Given the description of an element on the screen output the (x, y) to click on. 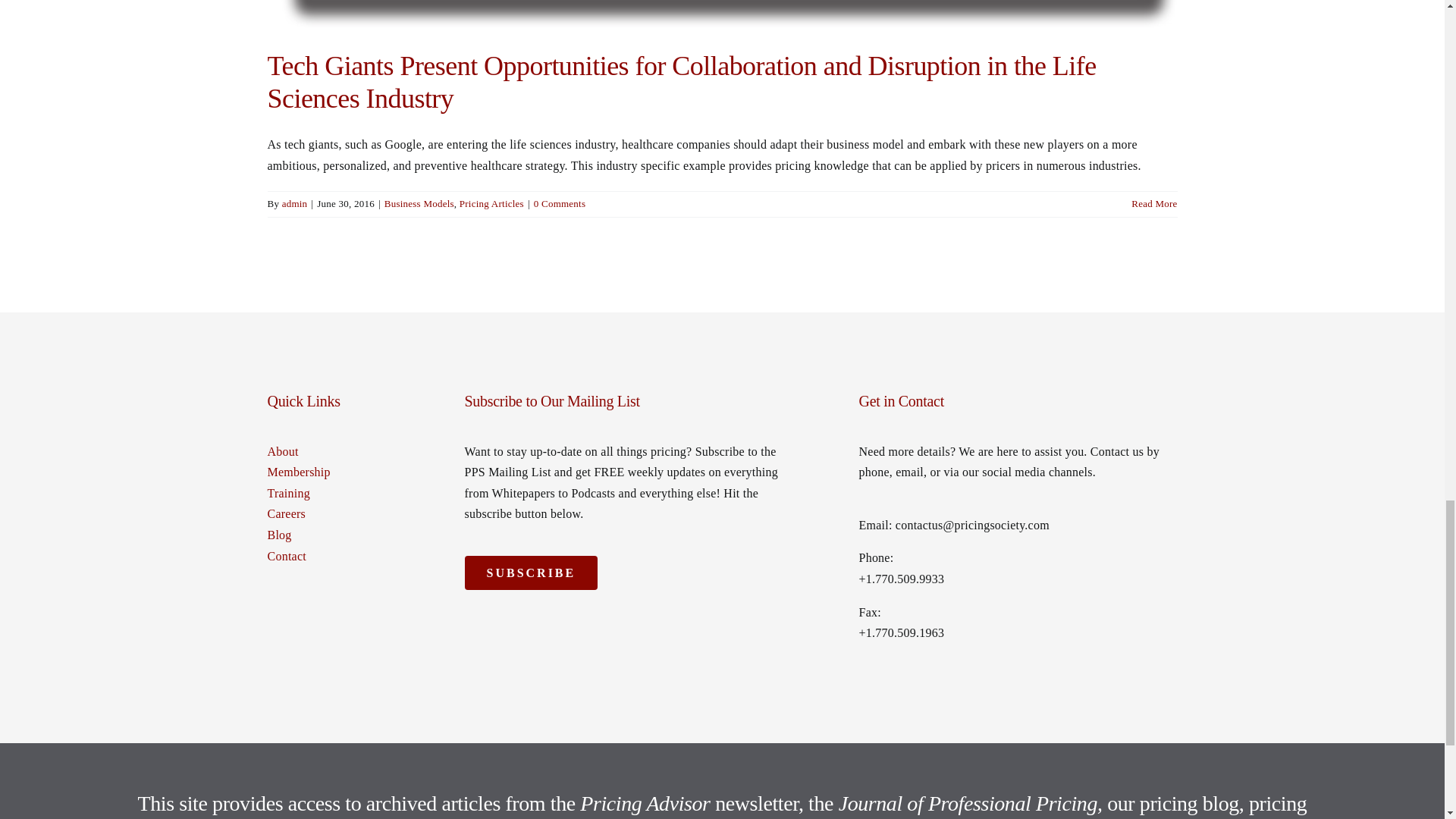
Posts by admin (294, 203)
